Given the description of an element on the screen output the (x, y) to click on. 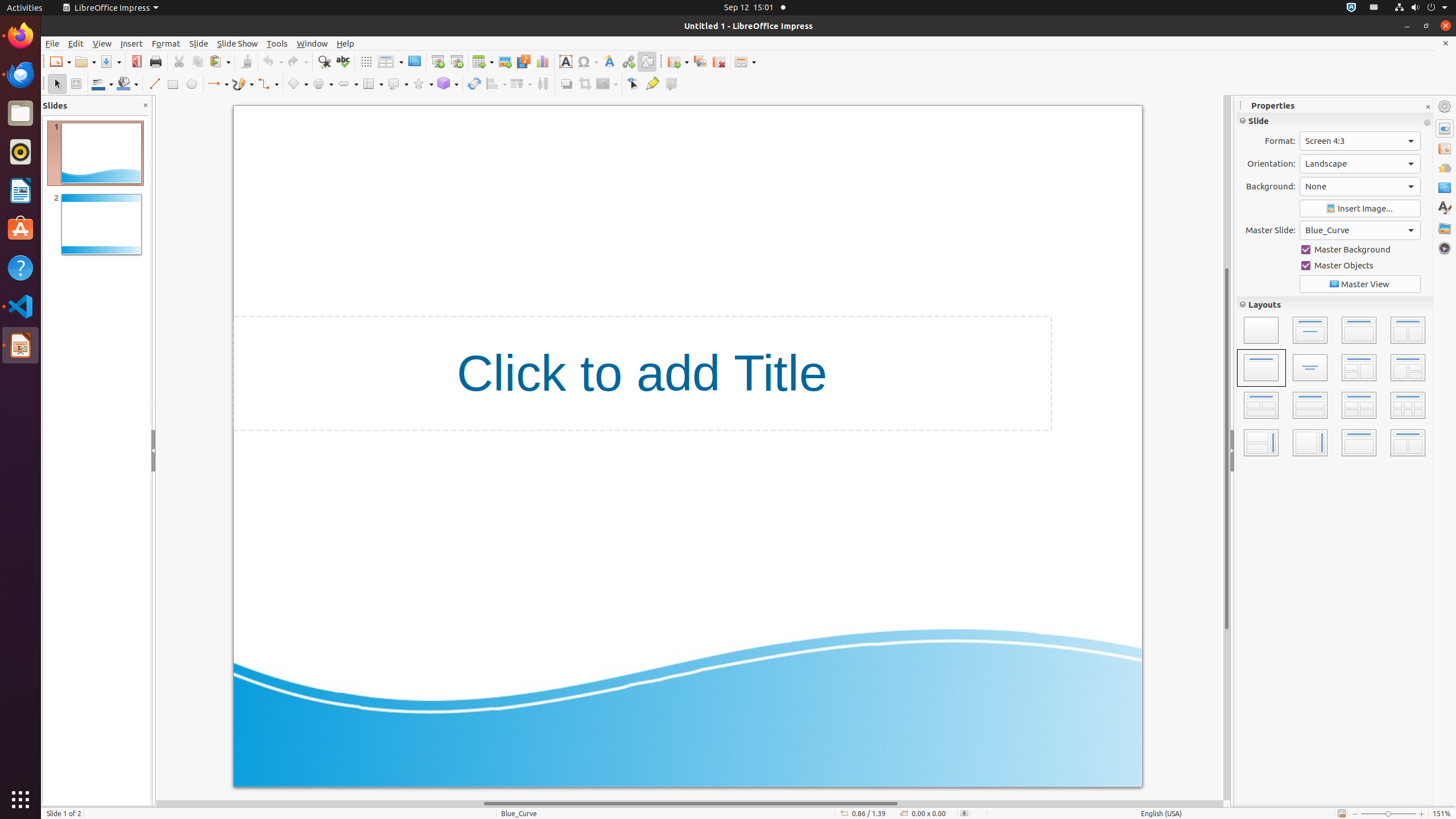
Select Element type: push-button (56, 83)
Strikethrough Element type: toggle-button (1296, 166)
Align Element type: push-button (495, 83)
Undo Element type: push-button (271, 61)
Curves and Polygons Element type: push-button (242, 83)
